Given the description of an element on the screen output the (x, y) to click on. 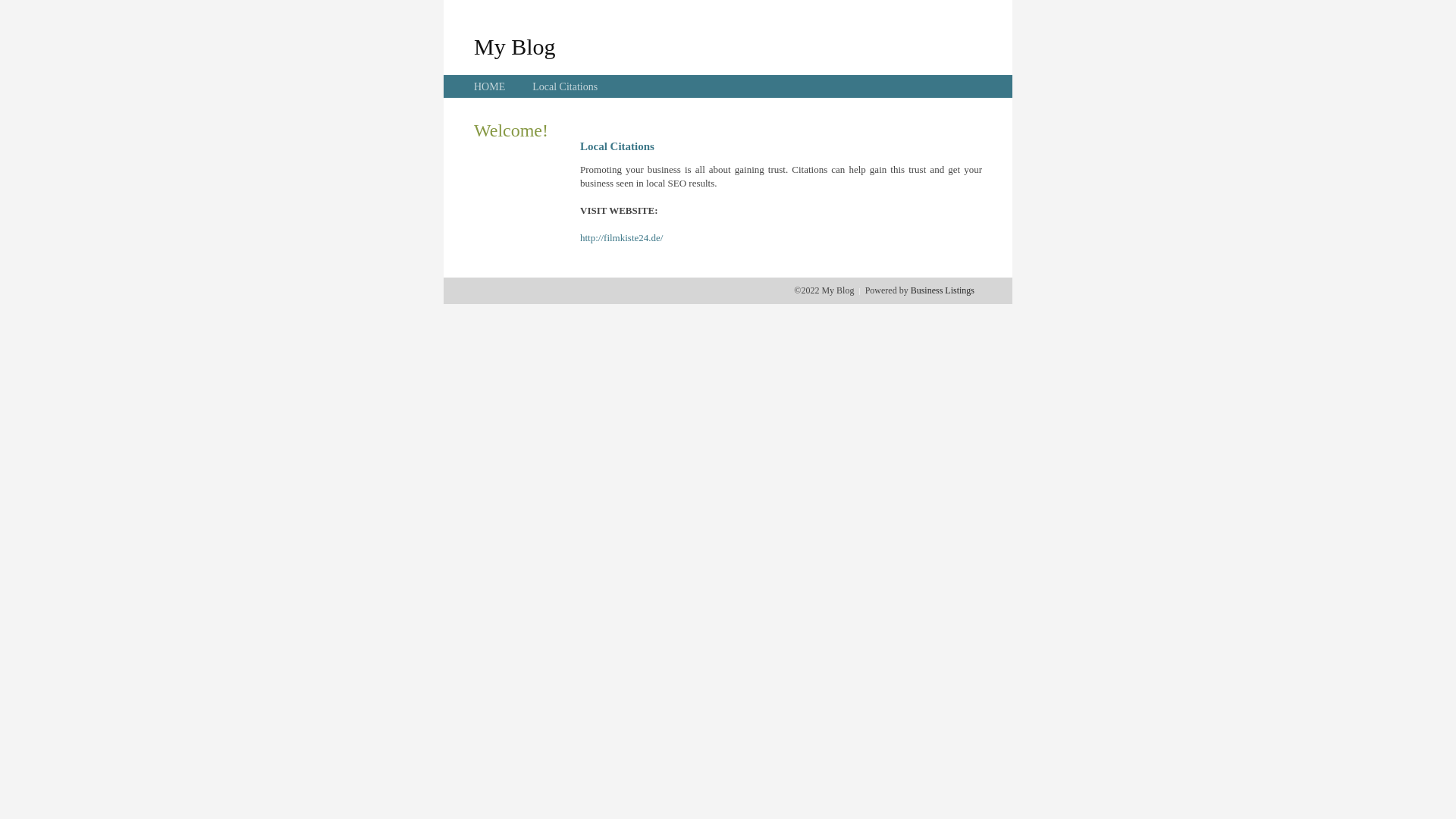
HOME Element type: text (489, 86)
Local Citations Element type: text (564, 86)
http://filmkiste24.de/ Element type: text (621, 237)
My Blog Element type: text (514, 46)
Business Listings Element type: text (942, 290)
